Given the description of an element on the screen output the (x, y) to click on. 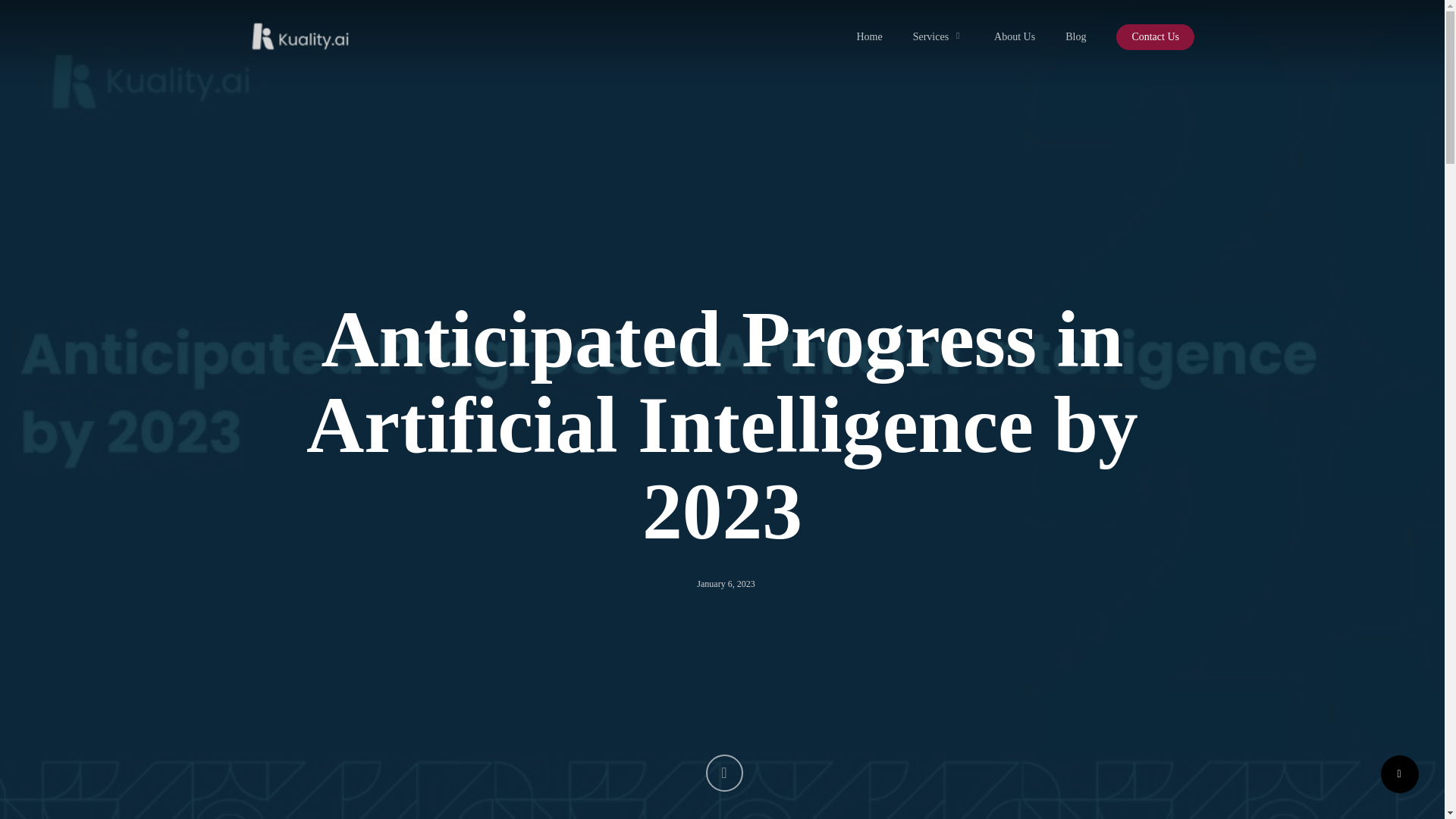
Car Rental Booking Platform (331, 529)
About Us (1014, 36)
Contact Us (595, 505)
Disclaimers (919, 505)
linkedin (702, 773)
Services (937, 36)
Privacy Policy (925, 479)
Contact Us (1154, 36)
facebook (665, 773)
Home (264, 452)
Fleet Management Cloud Suite (335, 502)
About Us (272, 612)
Terms of Service (930, 452)
x-twitter (627, 773)
Services (269, 479)
